Given the description of an element on the screen output the (x, y) to click on. 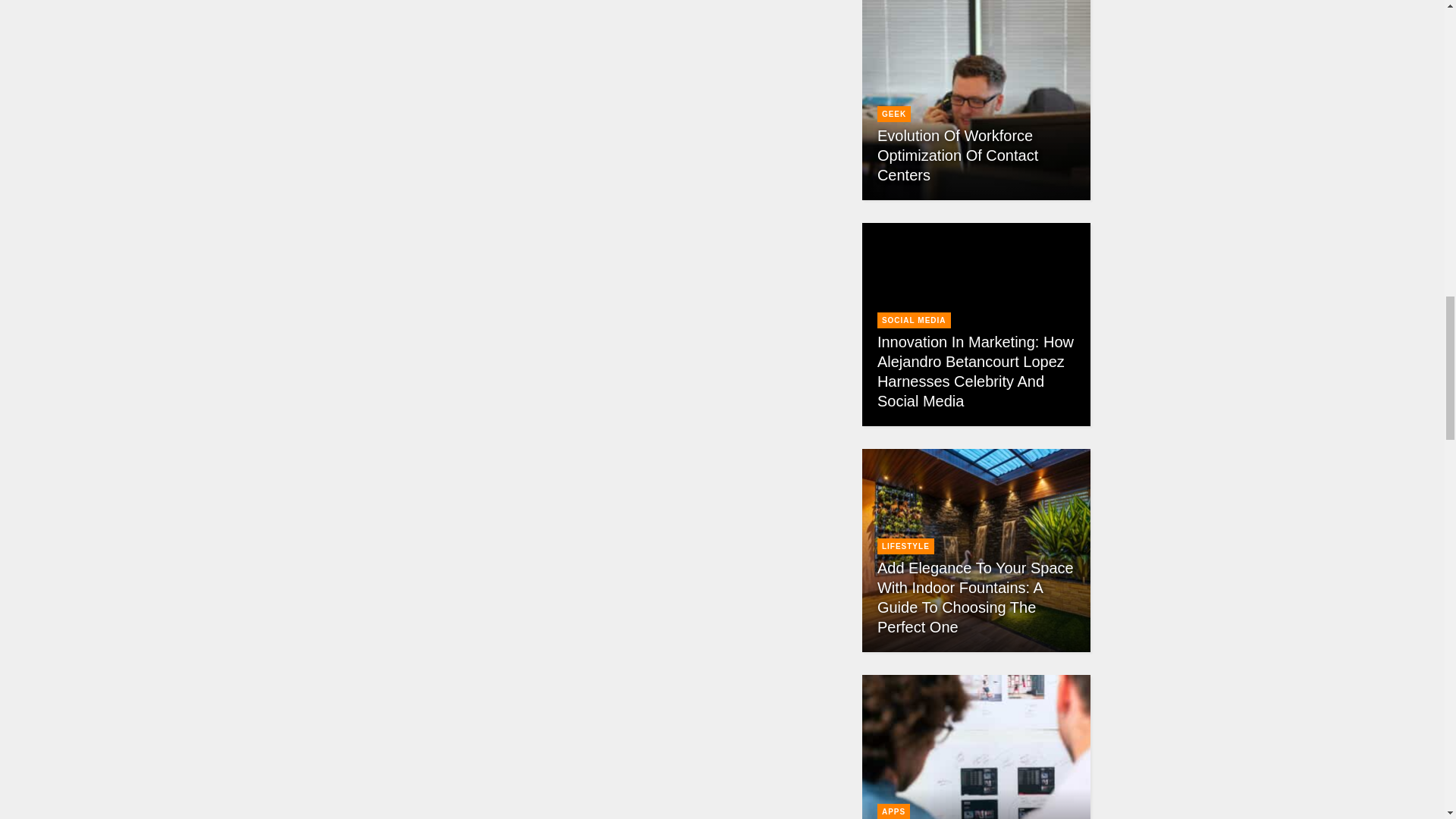
Fat Cookies Window Service Business (596, 53)
